Given the description of an element on the screen output the (x, y) to click on. 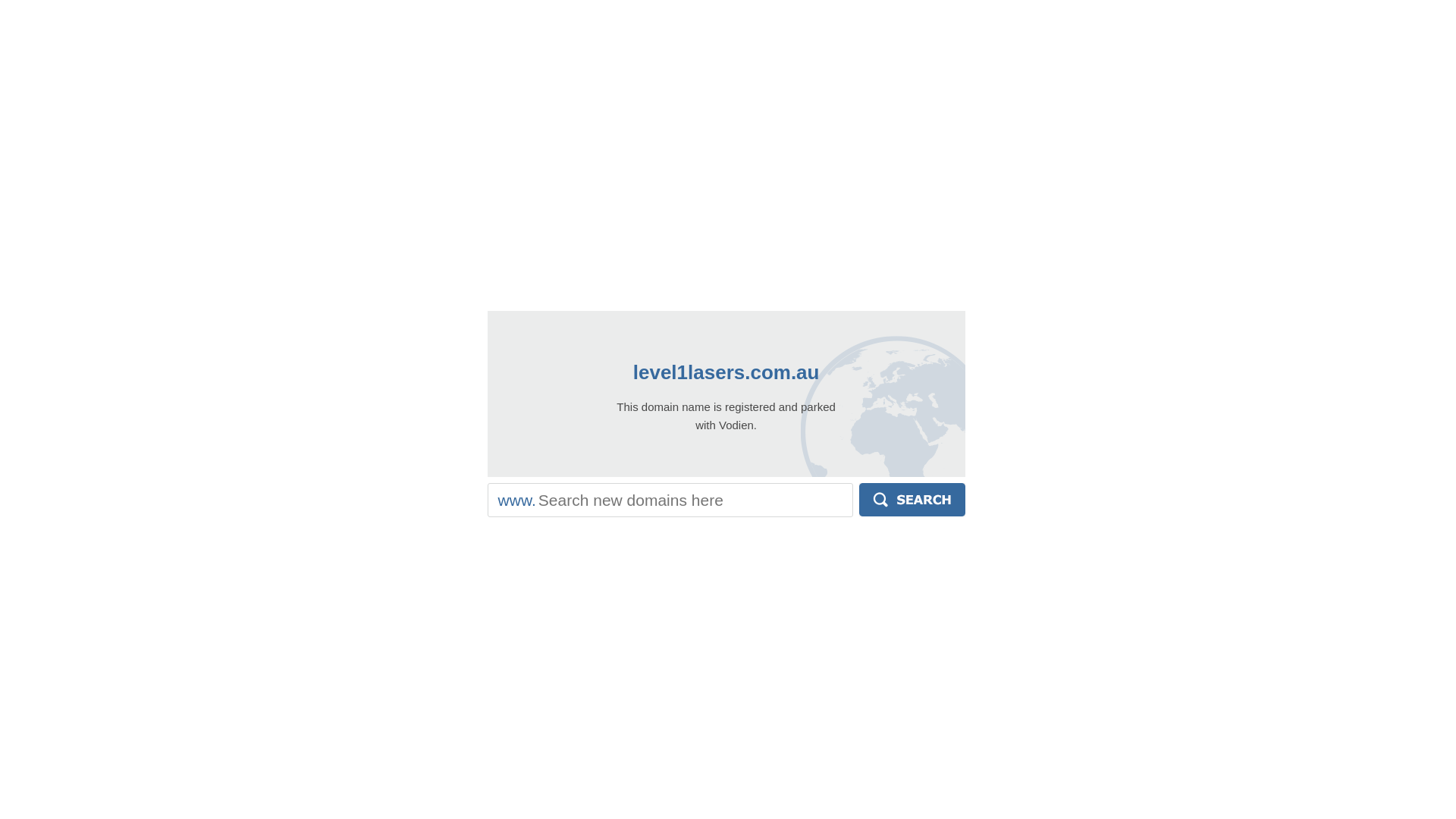
Search Element type: text (912, 499)
